Given the description of an element on the screen output the (x, y) to click on. 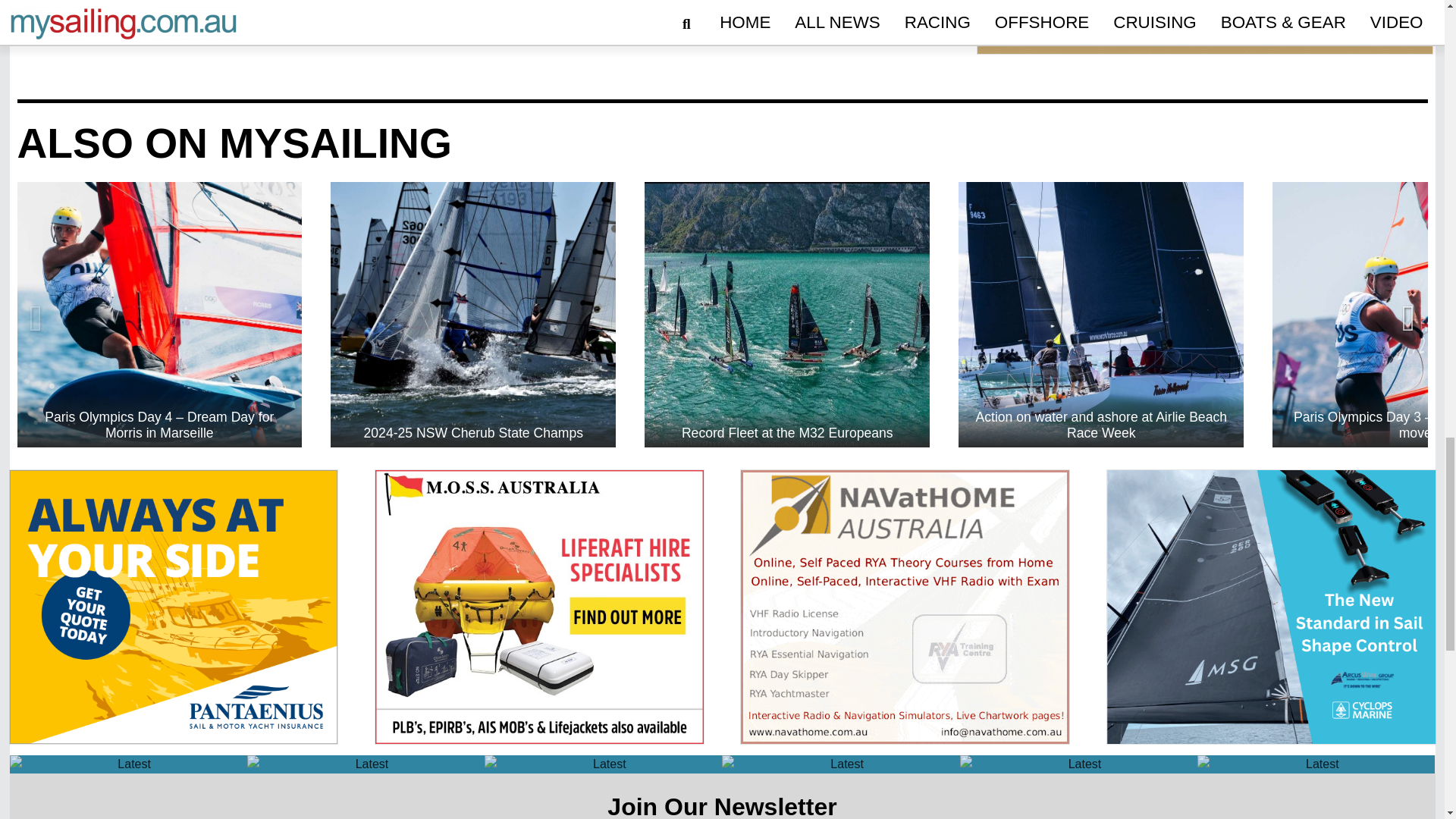
Action on water and ashore at Airlie Beach Race Week (1100, 314)
2024-25 NSW Cherub State Champs (472, 314)
Record Fleet at the M32 Europeans (787, 314)
